Given the description of an element on the screen output the (x, y) to click on. 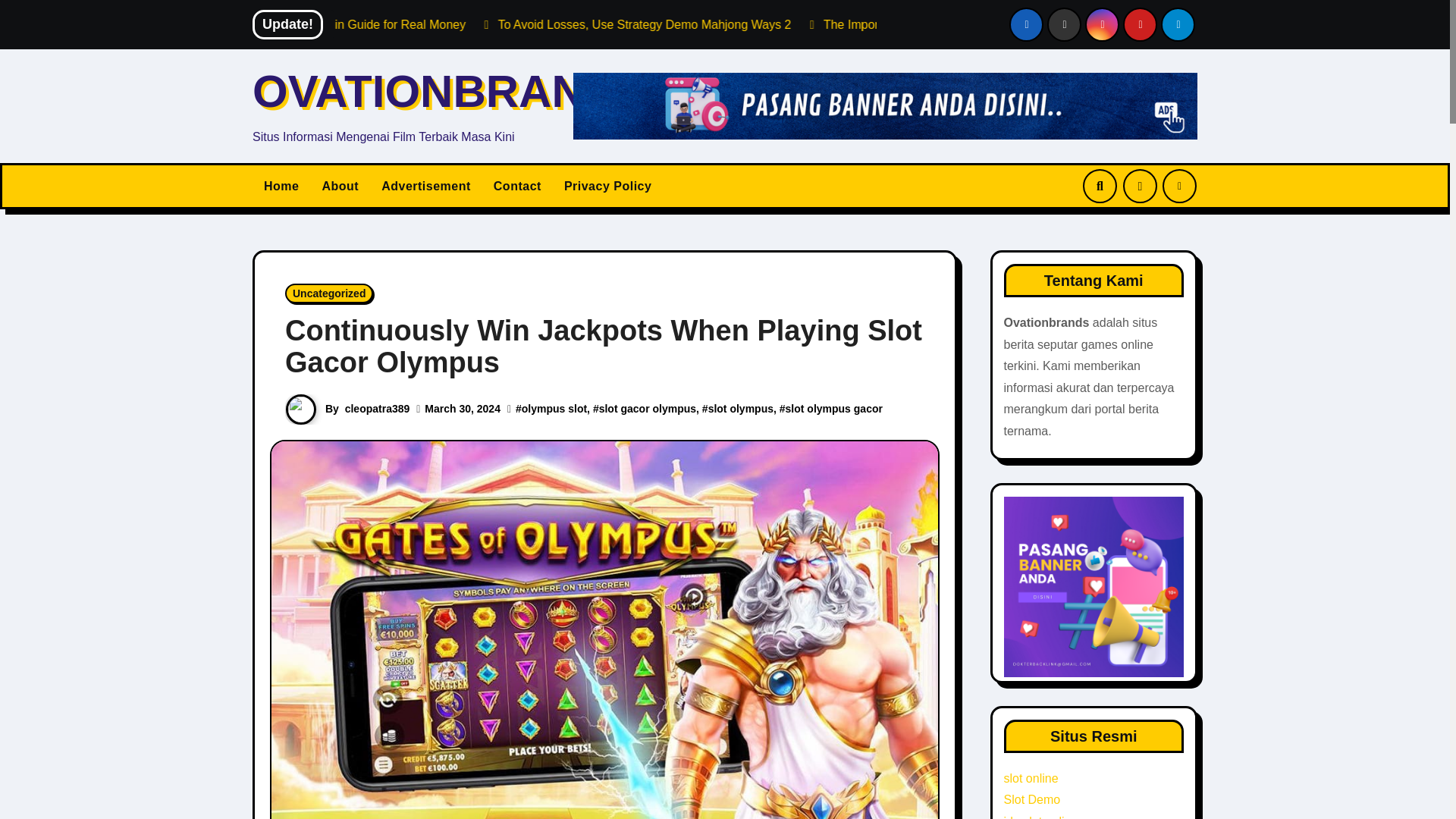
slot olympus gacor (834, 408)
OVATIONBRANDS (449, 91)
slot gacor olympus (646, 408)
Privacy Policy (608, 186)
slot olympus (740, 408)
March 30, 2024 (462, 408)
Advertisement (425, 186)
Continuously Win Jackpots When Playing Slot Gacor Olympus (603, 346)
Home (280, 186)
To Avoid Losses, Use Strategy Demo Mahjong Ways 2 (791, 24)
olympus slot (553, 408)
Contact (517, 186)
Home (280, 186)
Uncategorized (328, 293)
